Given the description of an element on the screen output the (x, y) to click on. 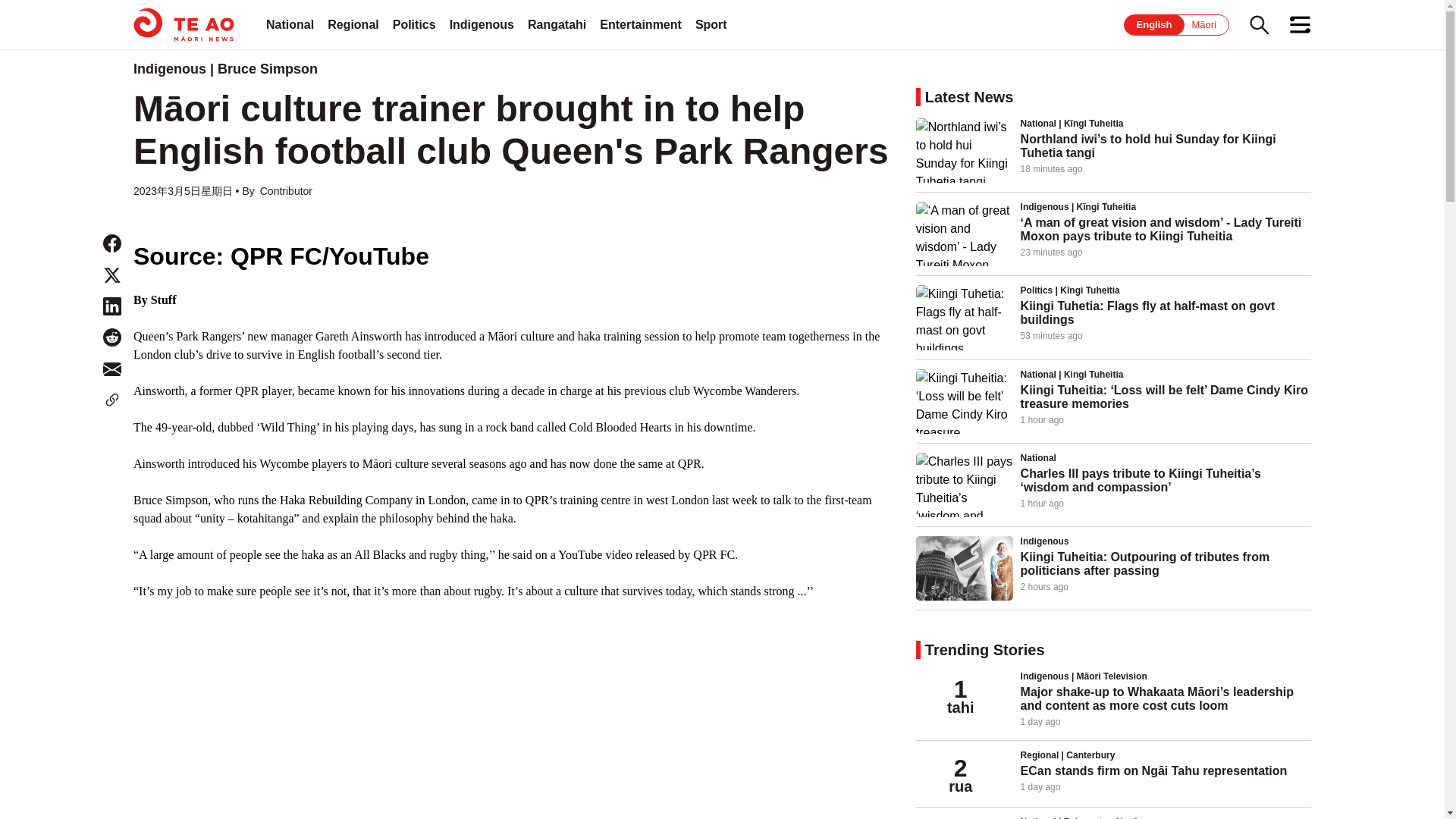
Regional (352, 24)
Rangatahi (556, 24)
National (290, 24)
Entertainment (640, 24)
Indigenous (481, 24)
Politics (414, 24)
Sport (710, 24)
Copy SocialLink (111, 399)
English (1154, 24)
